Given the description of an element on the screen output the (x, y) to click on. 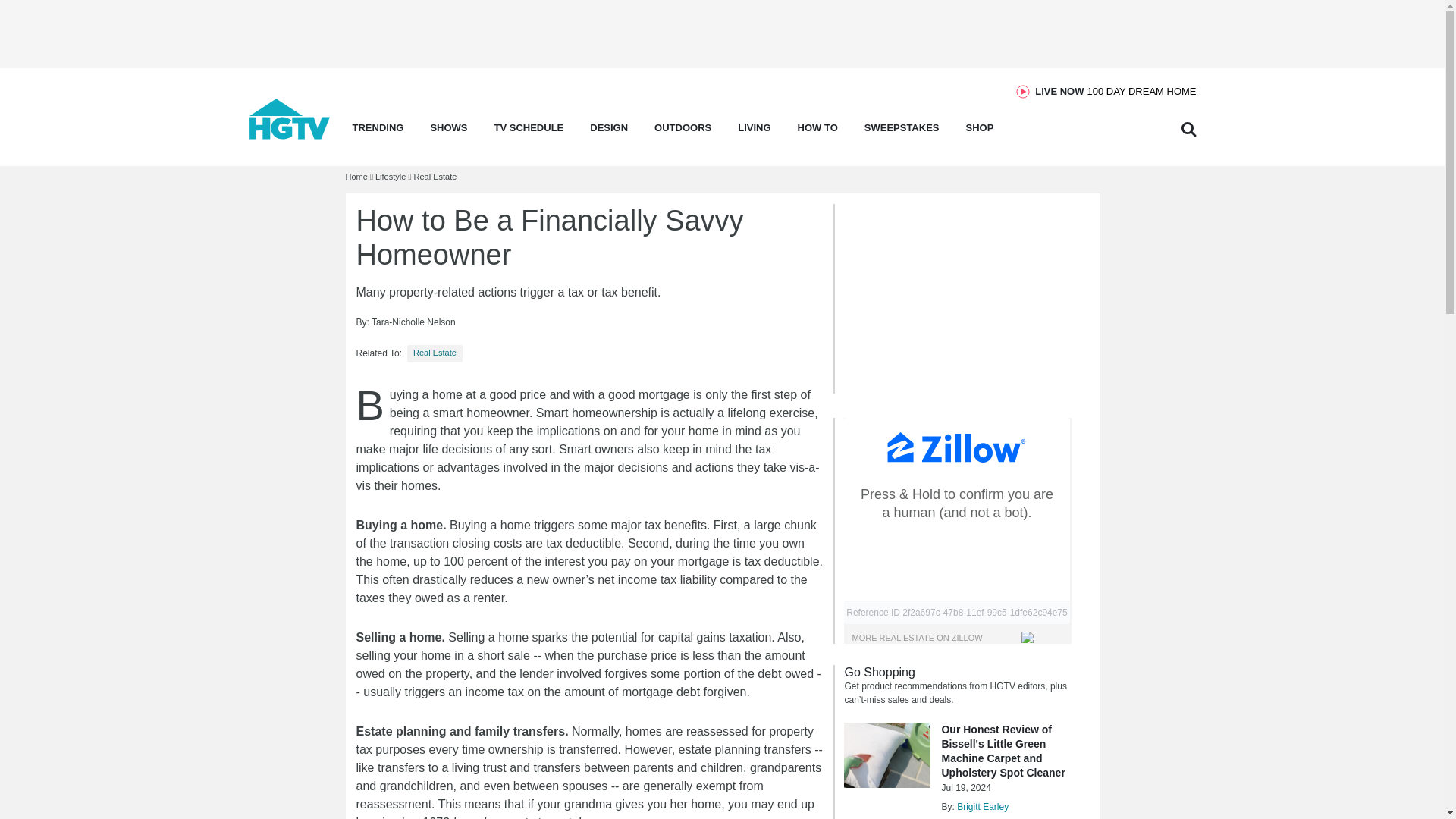
home (1115, 91)
3rd party ad content (289, 135)
